Given the description of an element on the screen output the (x, y) to click on. 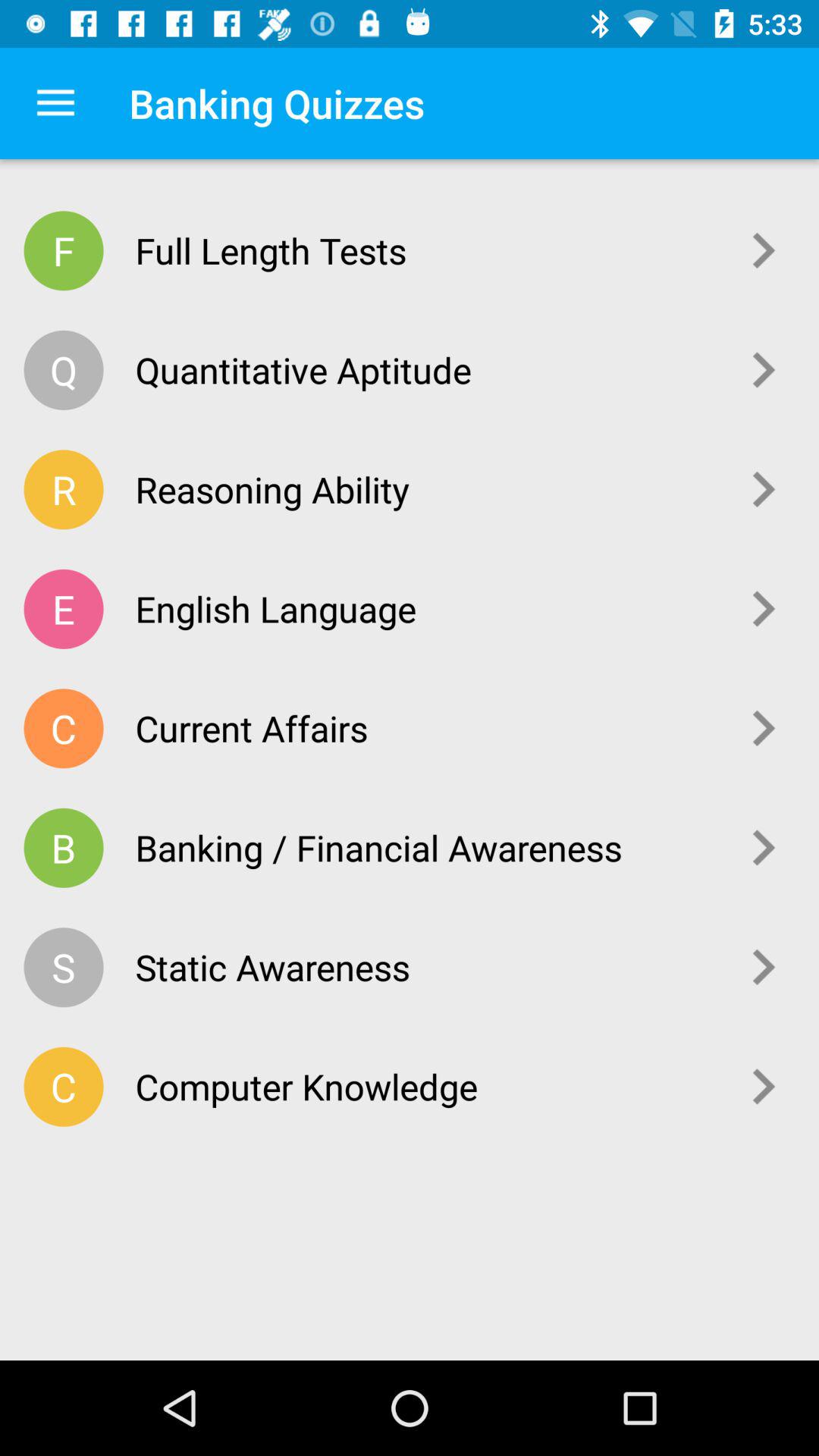
turn off icon next to reasoning ability icon (763, 489)
